Given the description of an element on the screen output the (x, y) to click on. 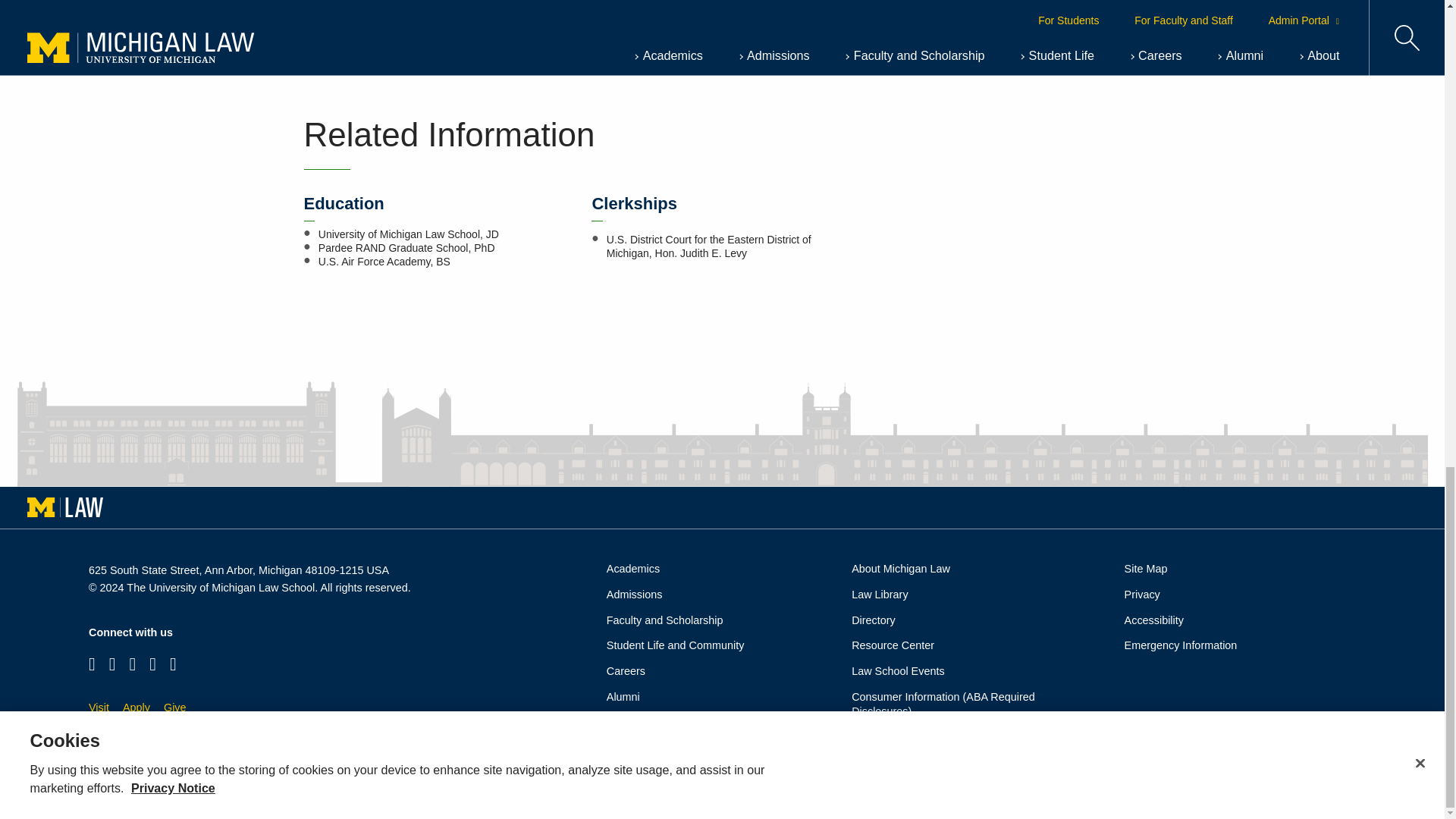
Facebook (92, 663)
Youtube (152, 663)
Twitter (132, 663)
Linkedin (173, 663)
Instagram (112, 663)
